Given the description of an element on the screen output the (x, y) to click on. 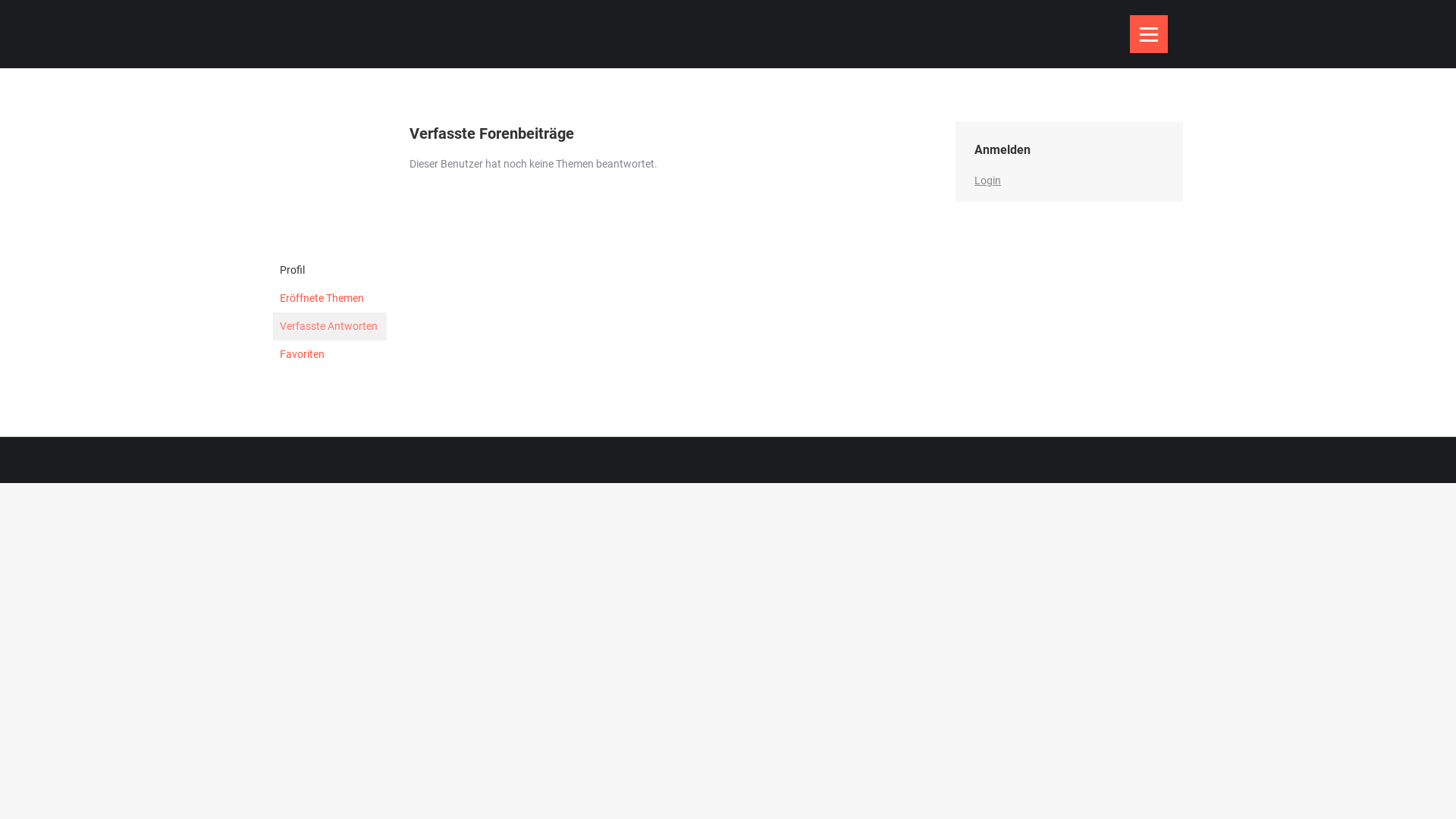
ipdewacolok Element type: hover (329, 246)
Login Element type: text (987, 180)
Favoriten Element type: text (329, 354)
Profil Element type: text (329, 270)
Verfasste Antworten Element type: text (329, 326)
